Given the description of an element on the screen output the (x, y) to click on. 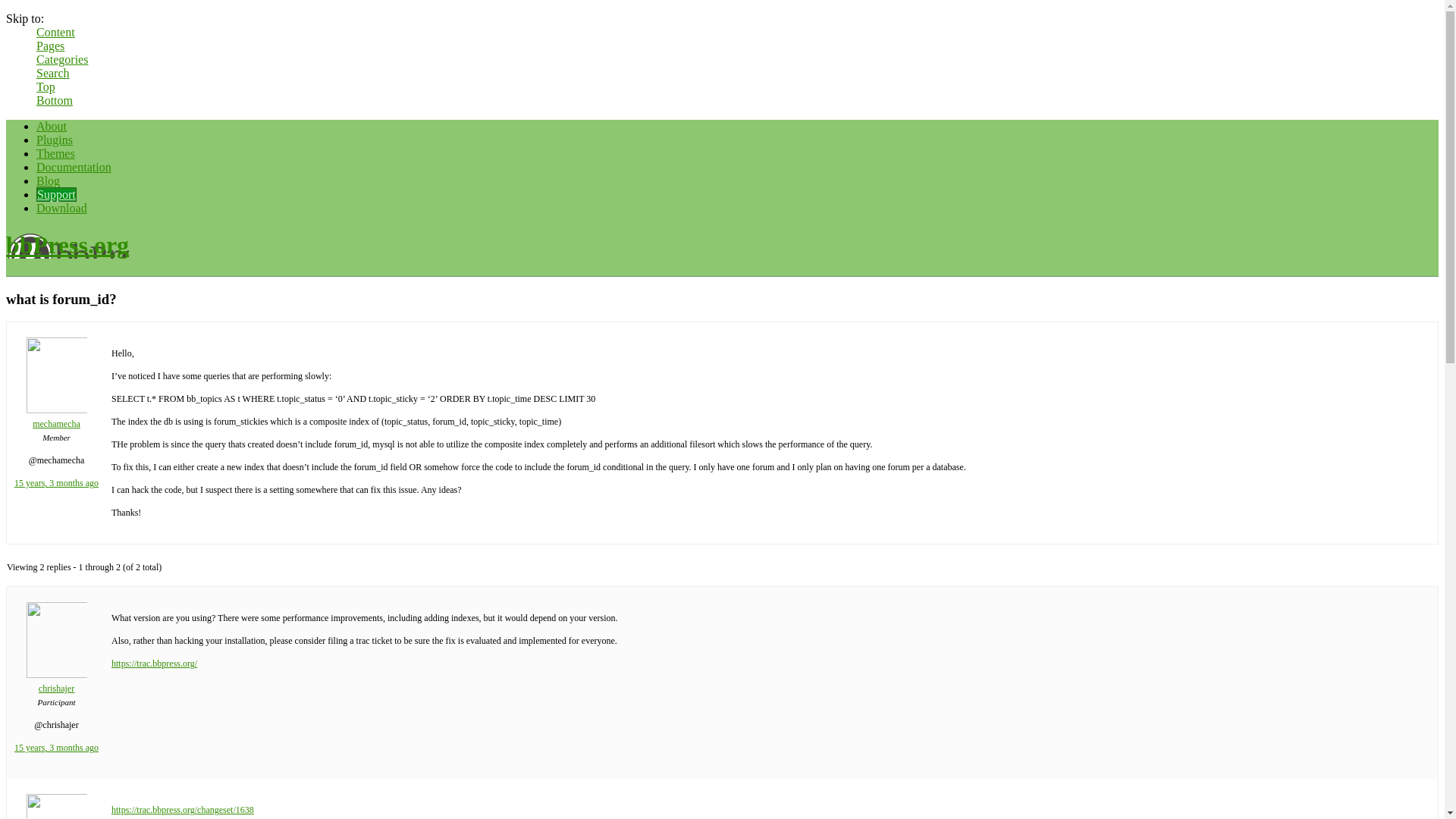
Plugins (54, 153)
Download (61, 221)
Categories (61, 59)
Pages (50, 45)
Top (45, 86)
Support (55, 207)
Search (52, 72)
bbPress.org (67, 257)
Themes (55, 166)
chrishajer (74, 811)
Bottom (54, 100)
Documentation (74, 180)
15 years, 3 months ago (92, 486)
About (51, 139)
Content (55, 31)
